Given the description of an element on the screen output the (x, y) to click on. 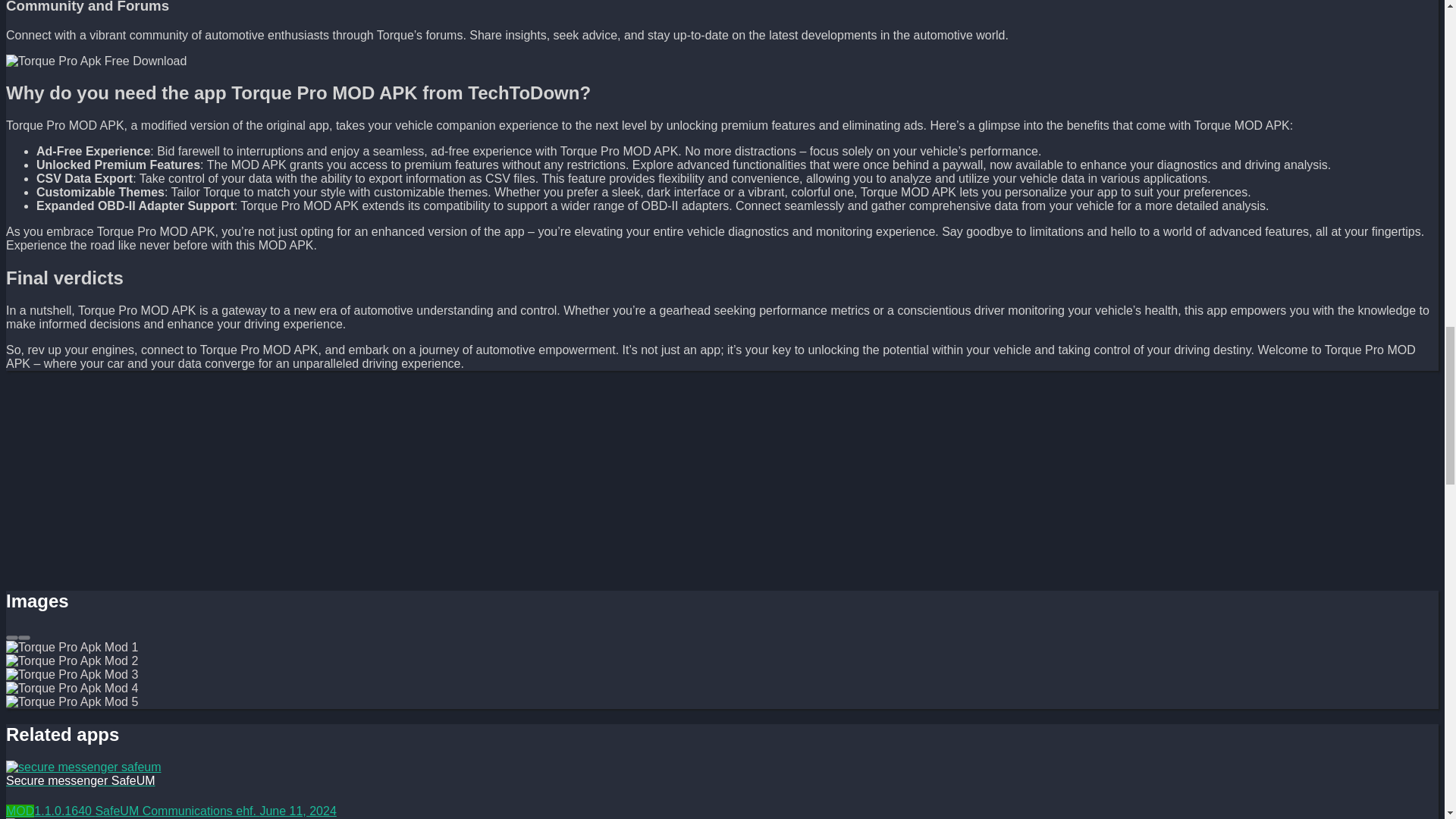
Torque Pro Apk Mod 3 (95, 60)
Next (23, 637)
Previous (11, 637)
